Given the description of an element on the screen output the (x, y) to click on. 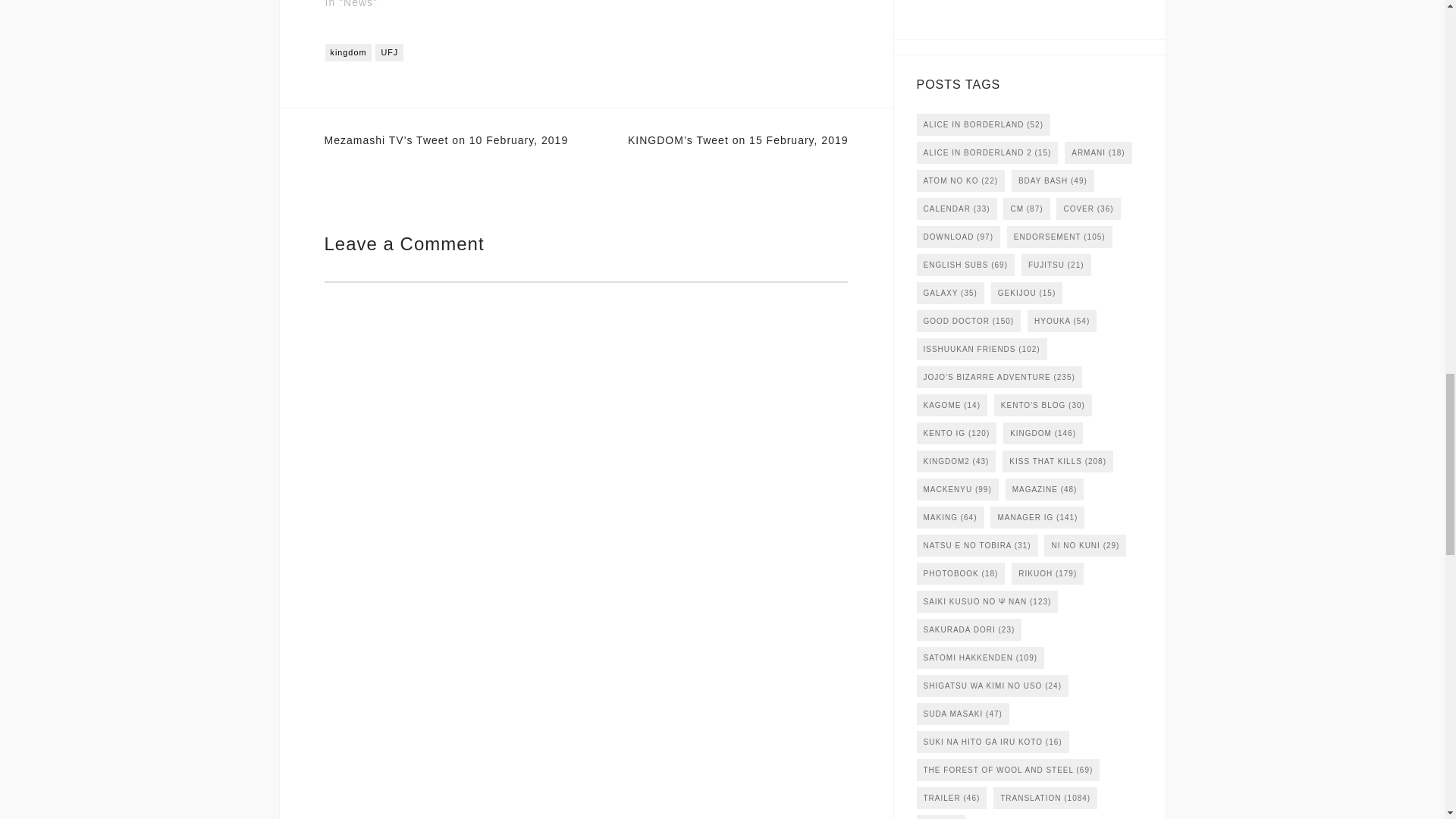
kingdom (347, 52)
UFJ (389, 52)
